Given the description of an element on the screen output the (x, y) to click on. 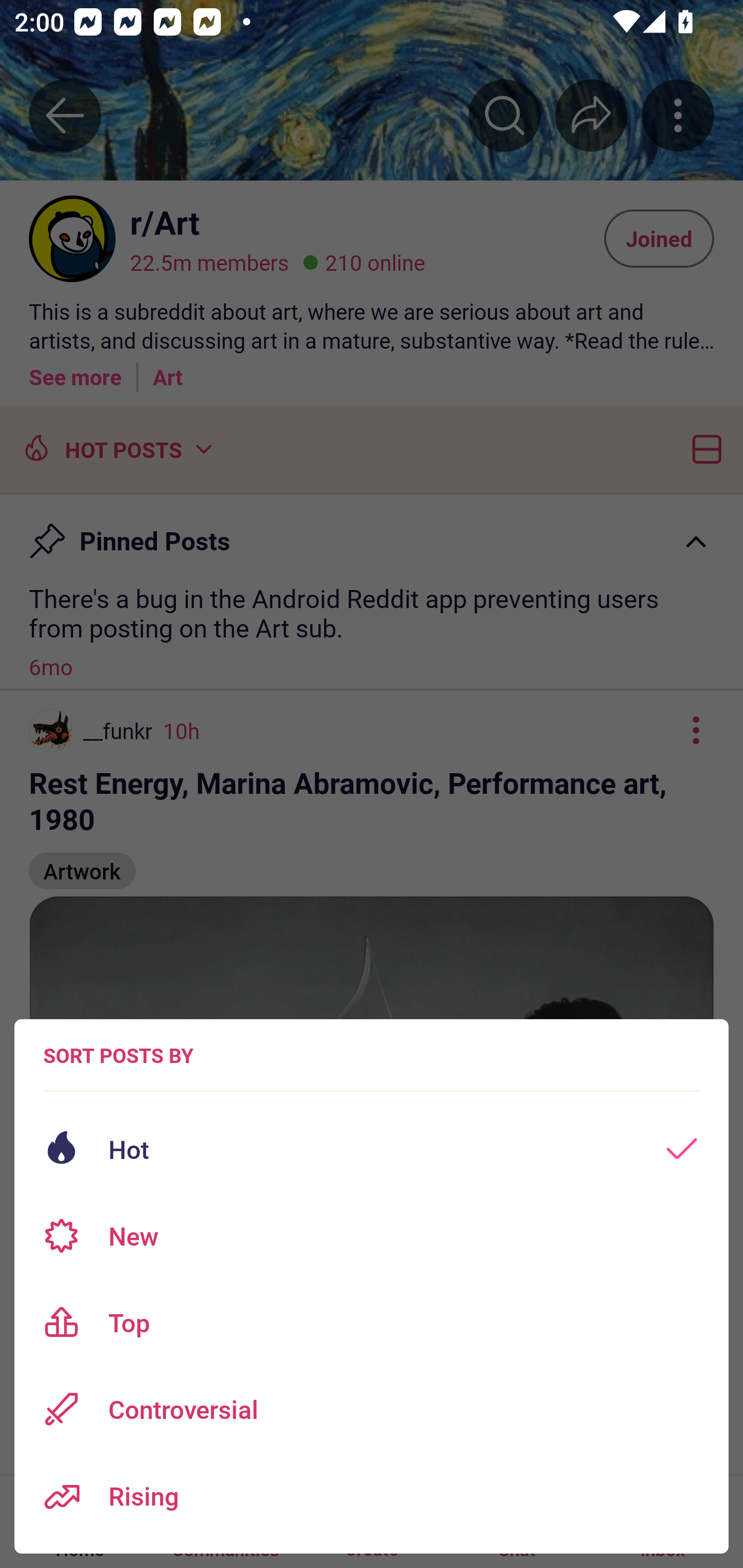
SORT POSTS BY Sort posts options (118, 1055)
Hot (371, 1149)
New (371, 1236)
Top (371, 1322)
Controversial (371, 1408)
Rising (371, 1495)
